Given the description of an element on the screen output the (x, y) to click on. 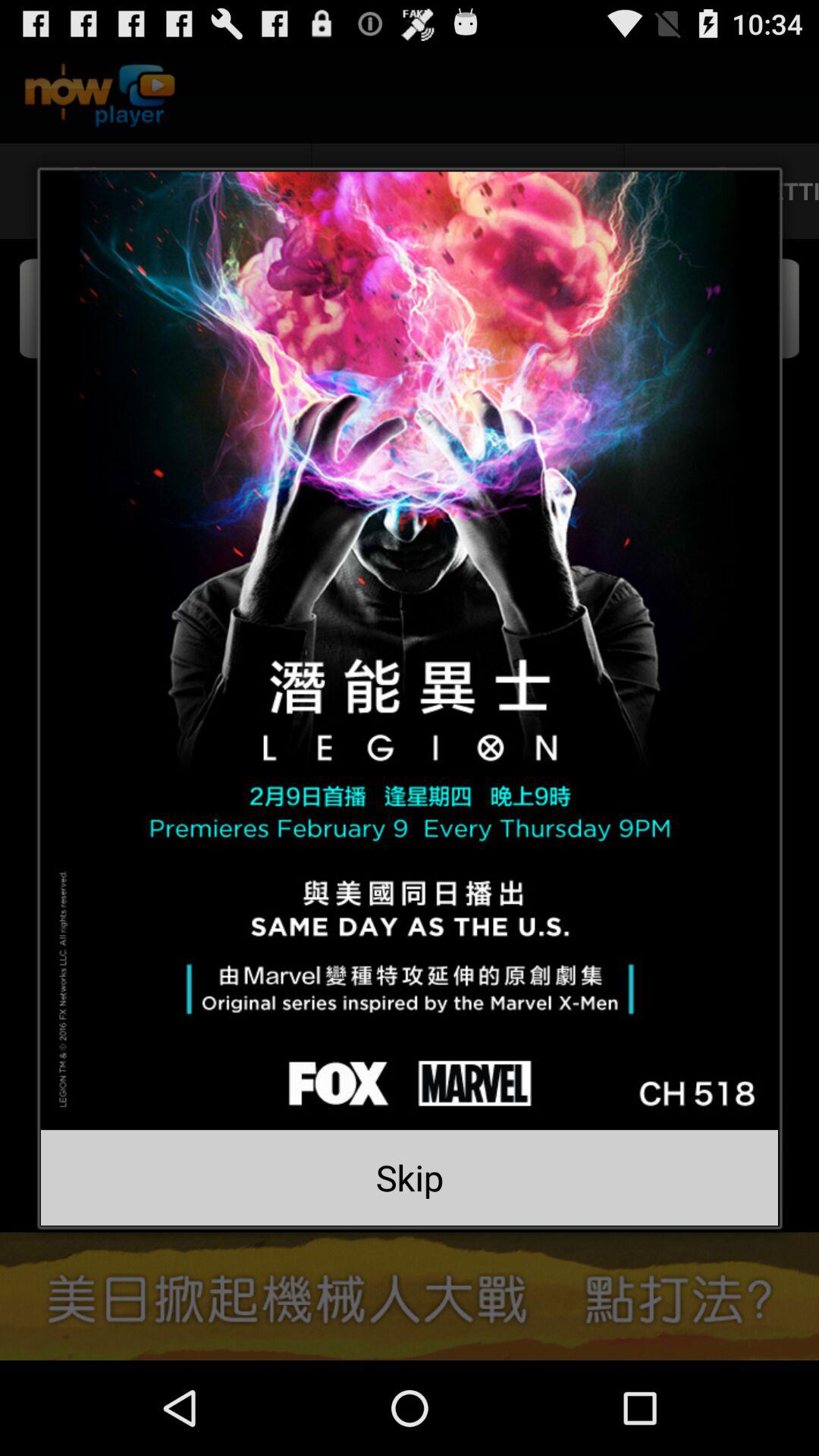
plays the video (409, 650)
